Given the description of an element on the screen output the (x, y) to click on. 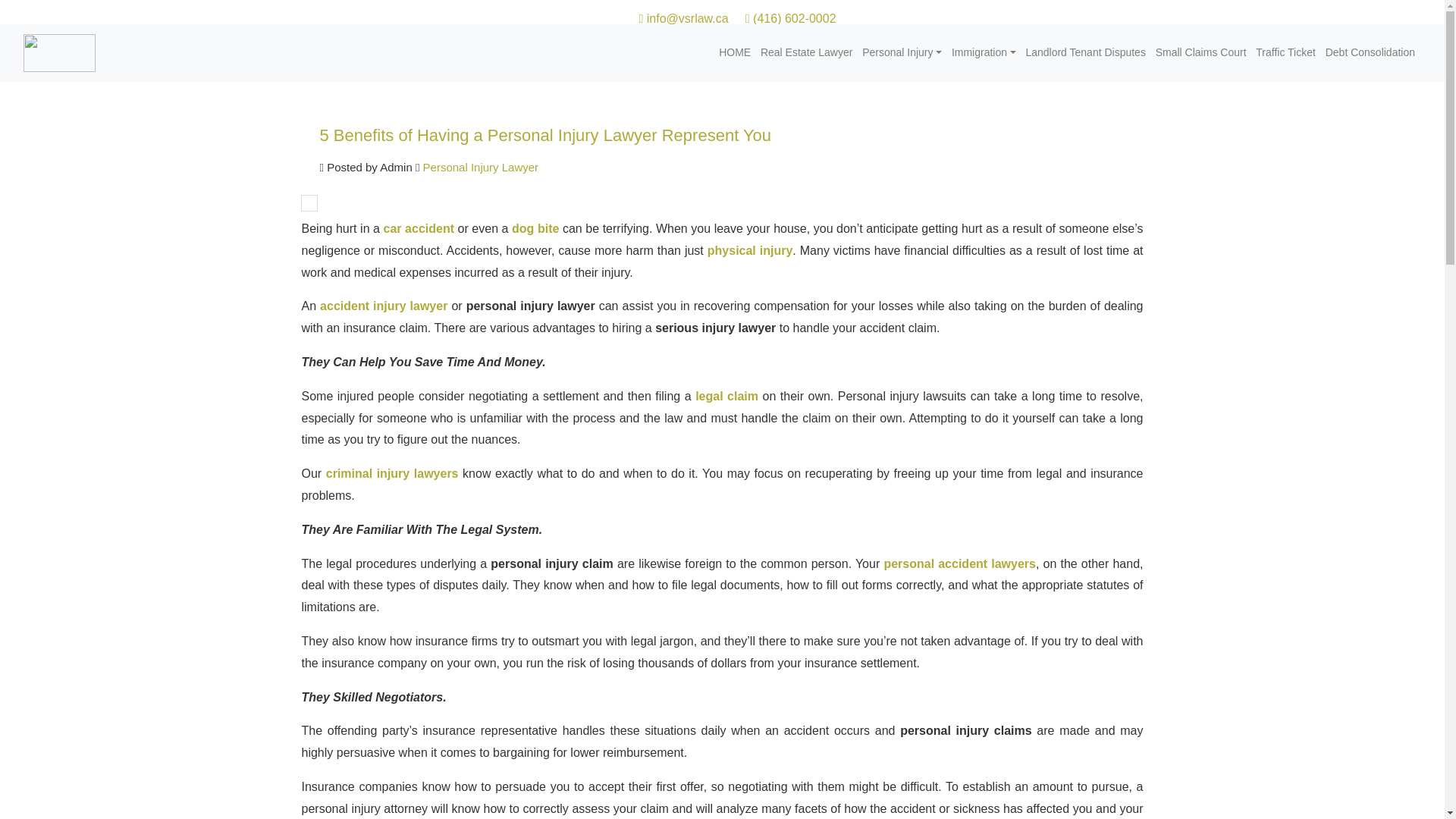
Small Claims Court (1201, 51)
Landlord Tenant Disputes (1086, 51)
Personal Injury Lawyer (478, 166)
HOME (735, 51)
dog bite (535, 228)
Real Estate Lawyer (808, 51)
personal accident lawyers (959, 563)
Debt Consolidation (1371, 51)
Immigration (984, 51)
criminal injury lawyers (394, 472)
